Given the description of an element on the screen output the (x, y) to click on. 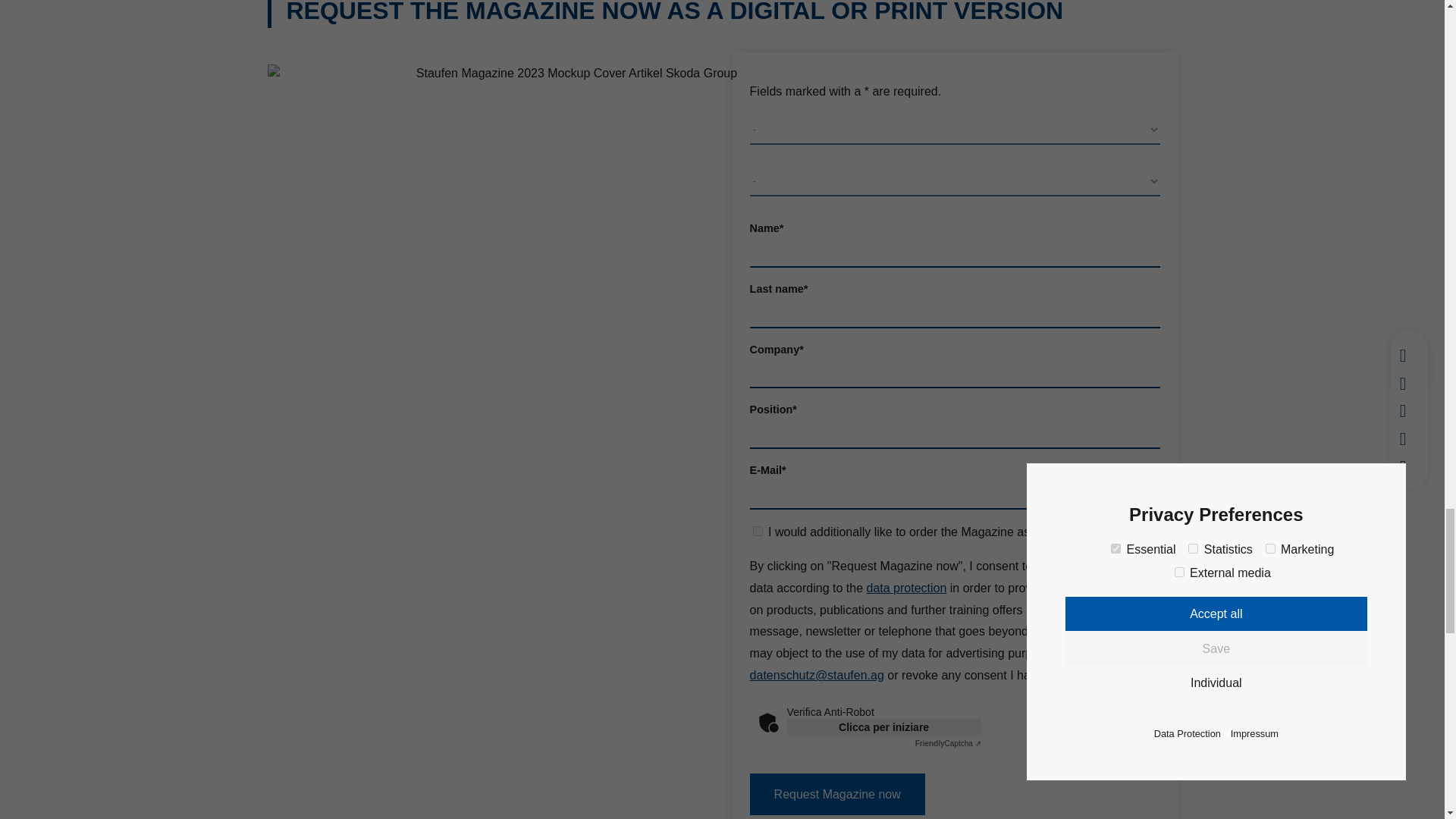
Request Magazine now (836, 793)
